Given the description of an element on the screen output the (x, y) to click on. 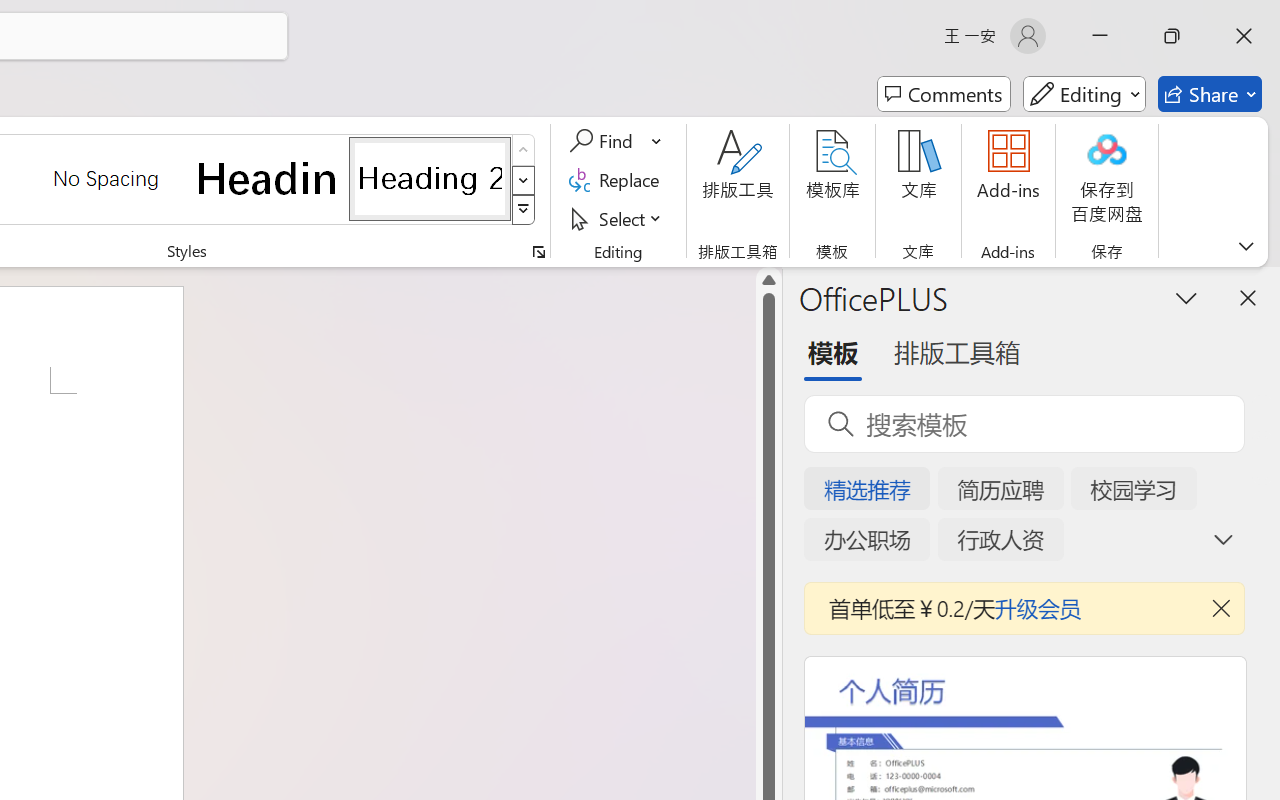
Close (1244, 36)
Restore Down (1172, 36)
Minimize (1099, 36)
Replace... (617, 179)
Ribbon Display Options (1246, 245)
Mode (1083, 94)
Row Down (523, 180)
Line up (769, 279)
